Given the description of an element on the screen output the (x, y) to click on. 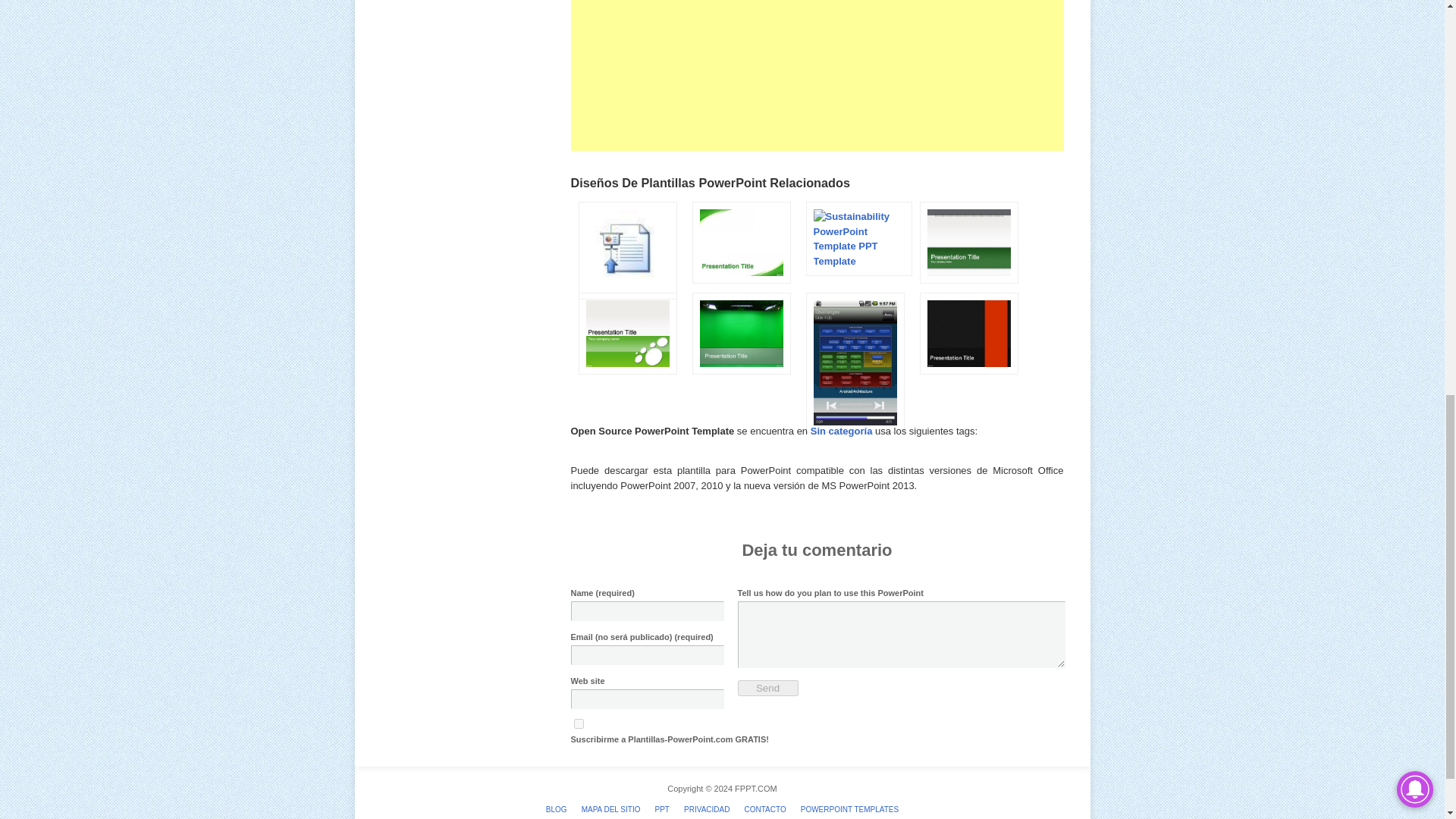
Attention PowerPoint Template (964, 287)
Send (766, 688)
Green Theme for PowerPoint (737, 287)
PowerPoint for Android (850, 437)
MAPA DEL SITIO (610, 809)
Green chrome PowerPoint Template (737, 378)
CONTACTO (765, 809)
Send (766, 688)
Style PowerPoint Template (964, 378)
Buyer PowerPoint Template (623, 378)
subscribe (578, 723)
PPT (662, 809)
Sustainability PowerPoint Template (854, 260)
PRIVACIDAD (706, 809)
How to open PPS files (623, 303)
